Given the description of an element on the screen output the (x, y) to click on. 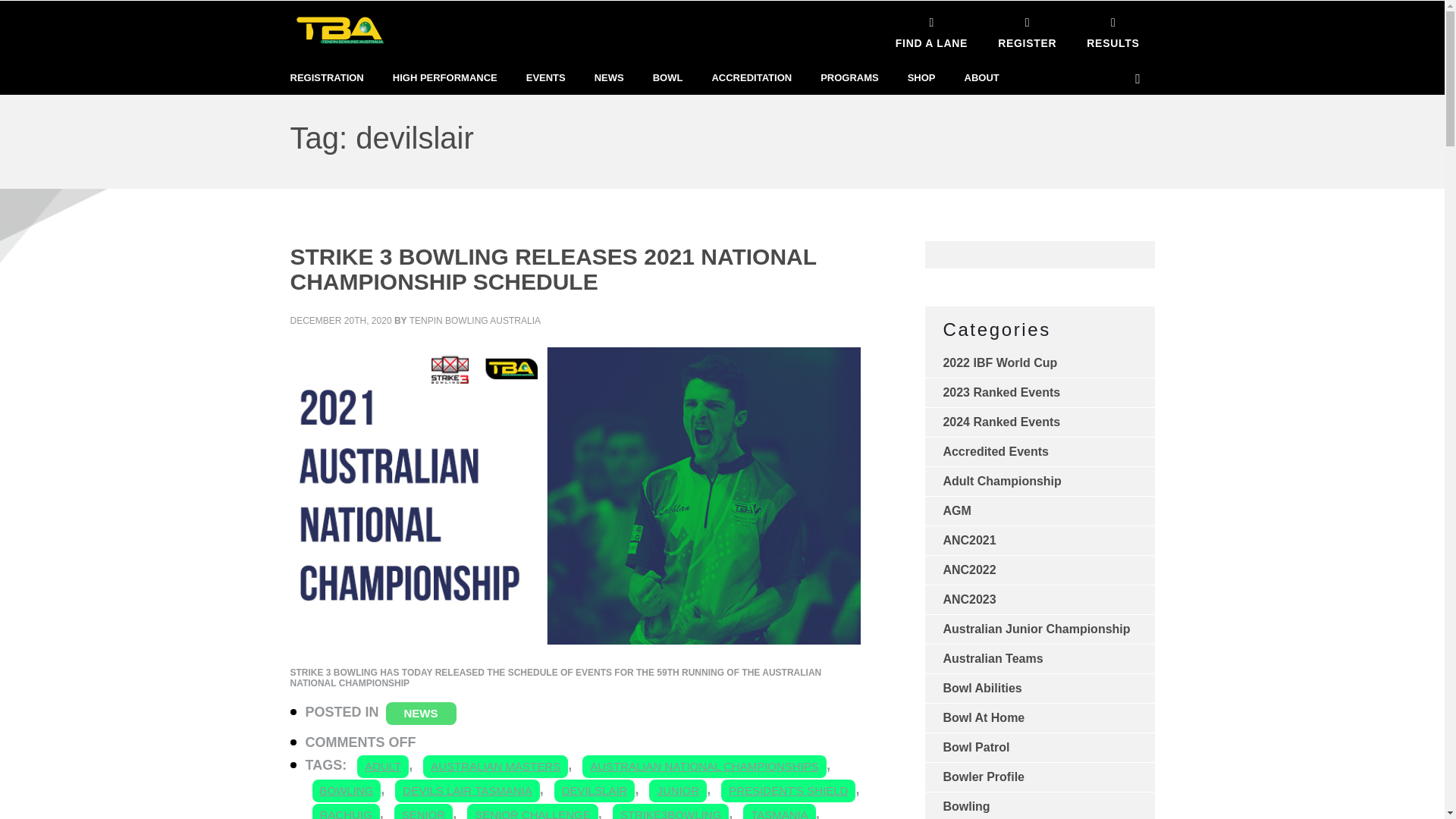
HIGH PERFORMANCE (445, 78)
EVENTS (545, 78)
RESULTS (1112, 30)
FIND A LANE (931, 30)
REGISTER (1026, 30)
REGISTRATION (325, 78)
BOWL (667, 78)
